Given the description of an element on the screen output the (x, y) to click on. 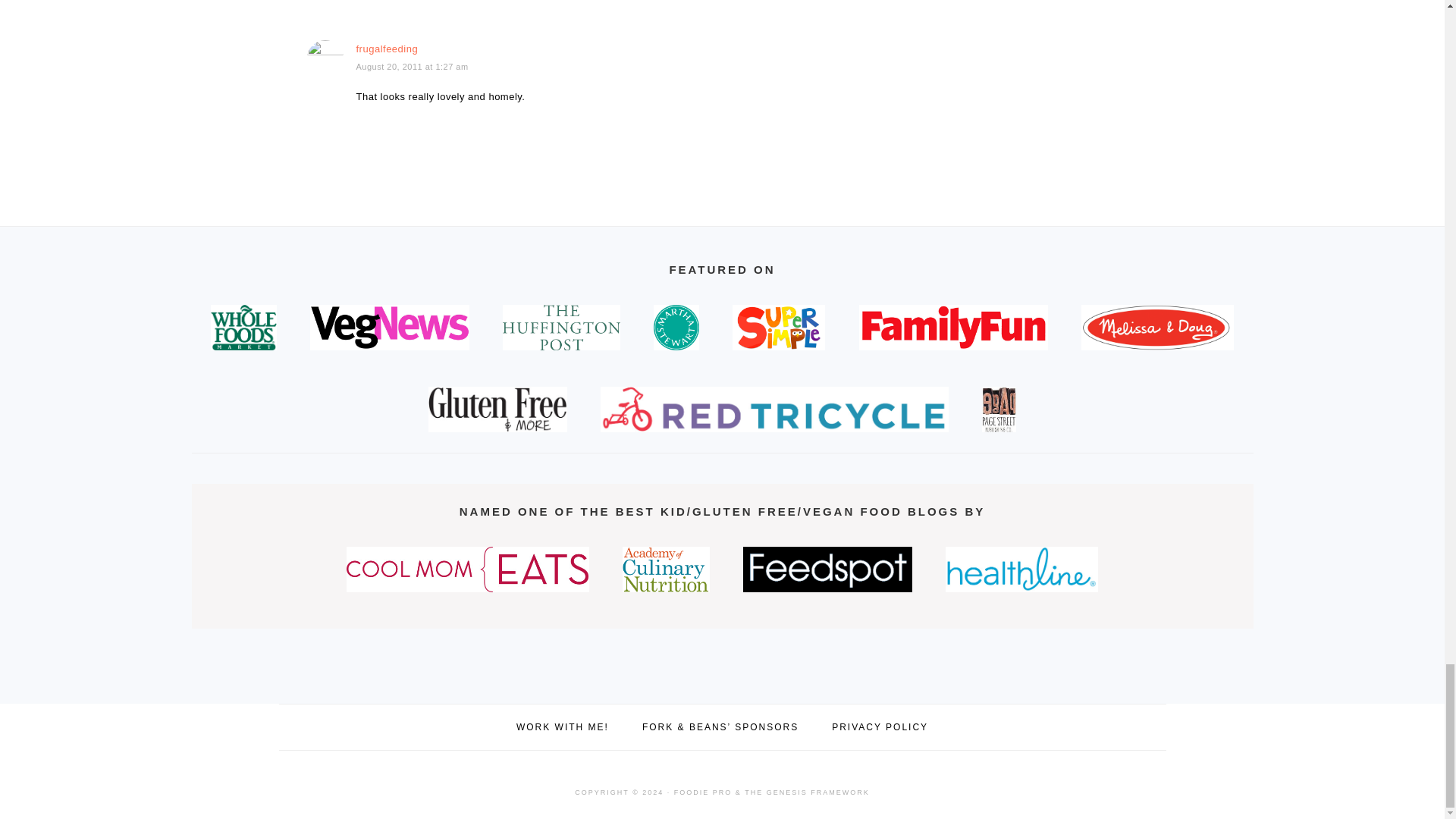
Fork and Beans featured on (560, 327)
Fork and Beans featured on Healthline (1021, 569)
Fork and Beans featured on Cool Mom Eats (467, 569)
Fork and Beans featured in FamilyFun Magazine (953, 327)
Fork and Beans featured on Feedspot (827, 569)
Fork and Beans featured on WholeFoods (243, 327)
Fork and Beans featured on Red Tricycle (774, 409)
Fork and Beans featured on VegNews (389, 327)
Fork and Beans featured on The Academy of Culinary Nutrition (666, 569)
Fork and Beans featured on Super Simple (778, 327)
Fork and Beans featured on Martha Stewart (676, 327)
